Given the description of an element on the screen output the (x, y) to click on. 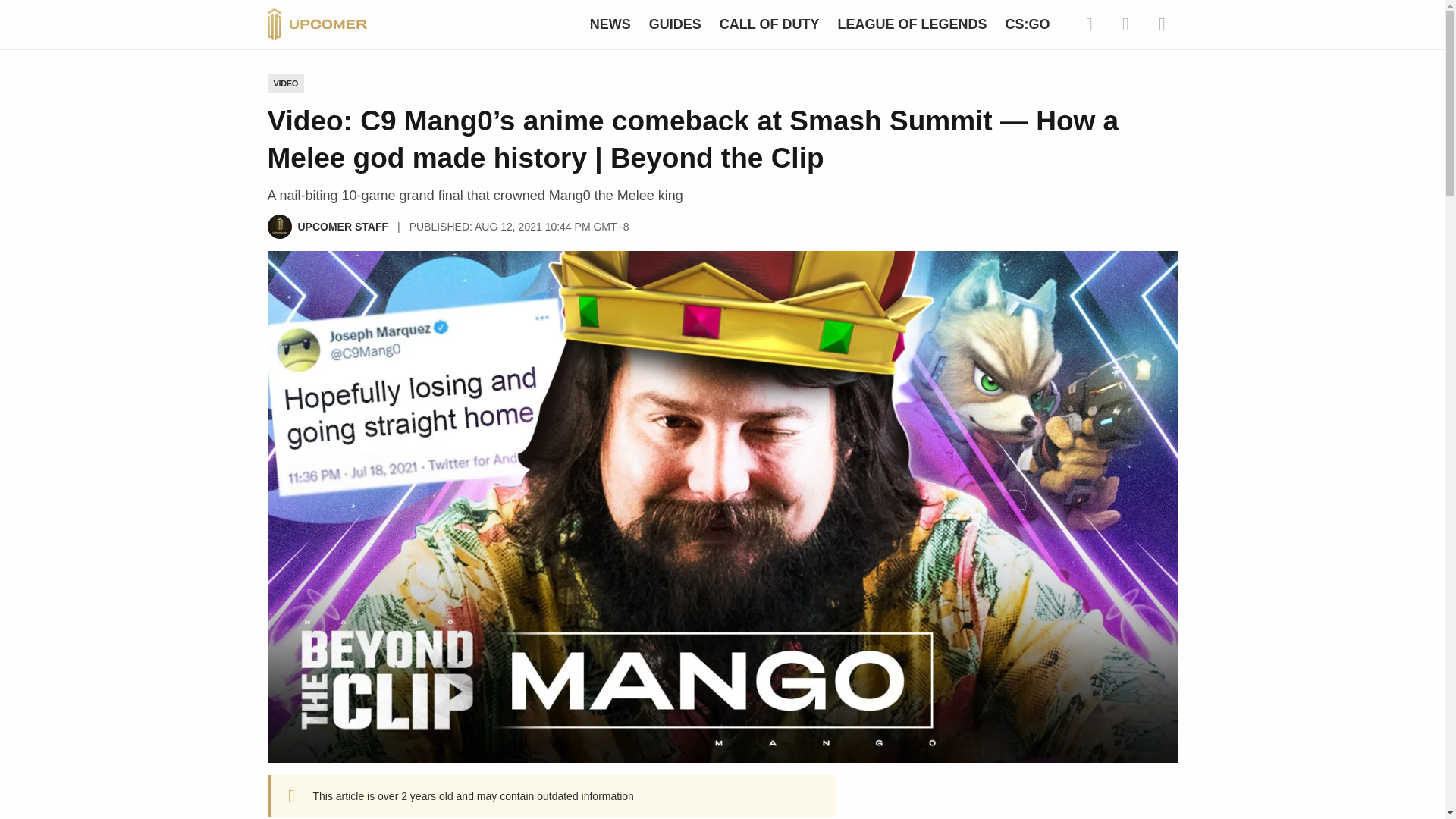
CALL OF DUTY (769, 23)
LEAGUE OF LEGENDS (912, 23)
GUIDES (675, 23)
Dark Mode (1124, 24)
Expand Menu (1161, 24)
Search (1088, 24)
NEWS (609, 23)
CS:GO (1026, 23)
VIDEO (285, 83)
